Given the description of an element on the screen output the (x, y) to click on. 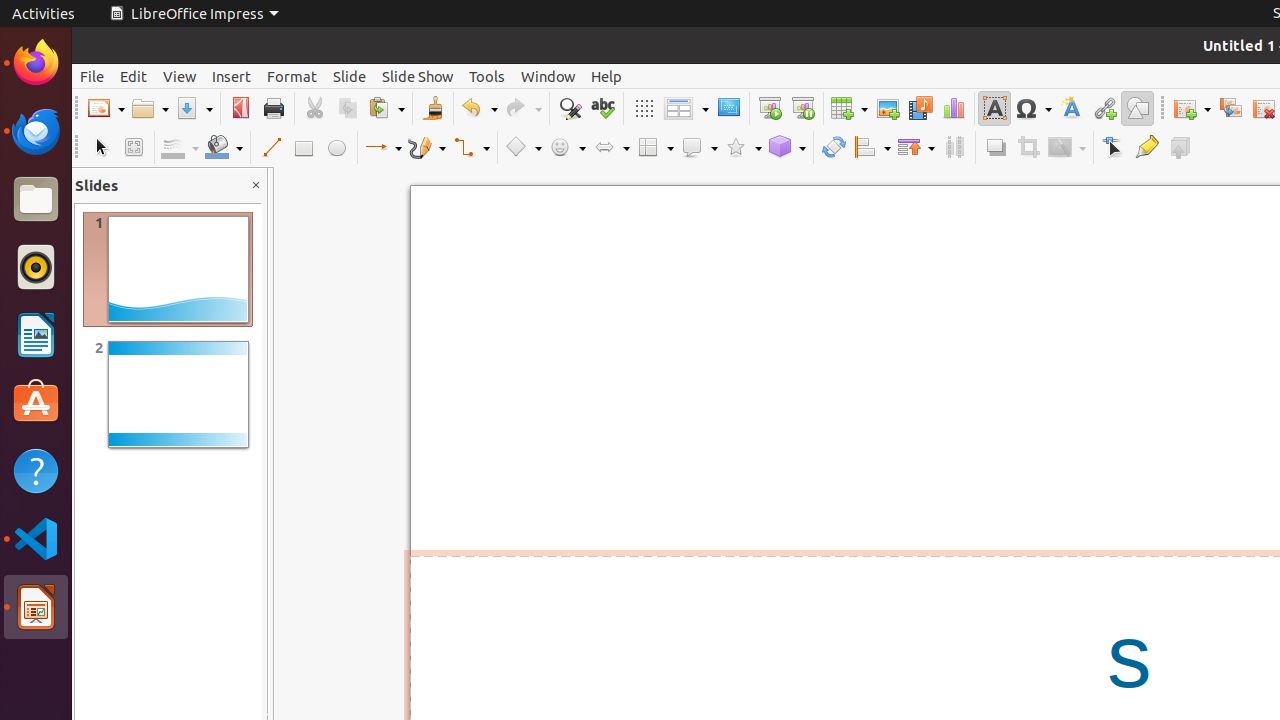
Fill Color Element type: push-button (224, 147)
Arrange Element type: push-button (916, 147)
Flowchart Shapes Element type: push-button (655, 147)
Align Element type: push-button (872, 147)
Redo Element type: push-button (523, 108)
